Given the description of an element on the screen output the (x, y) to click on. 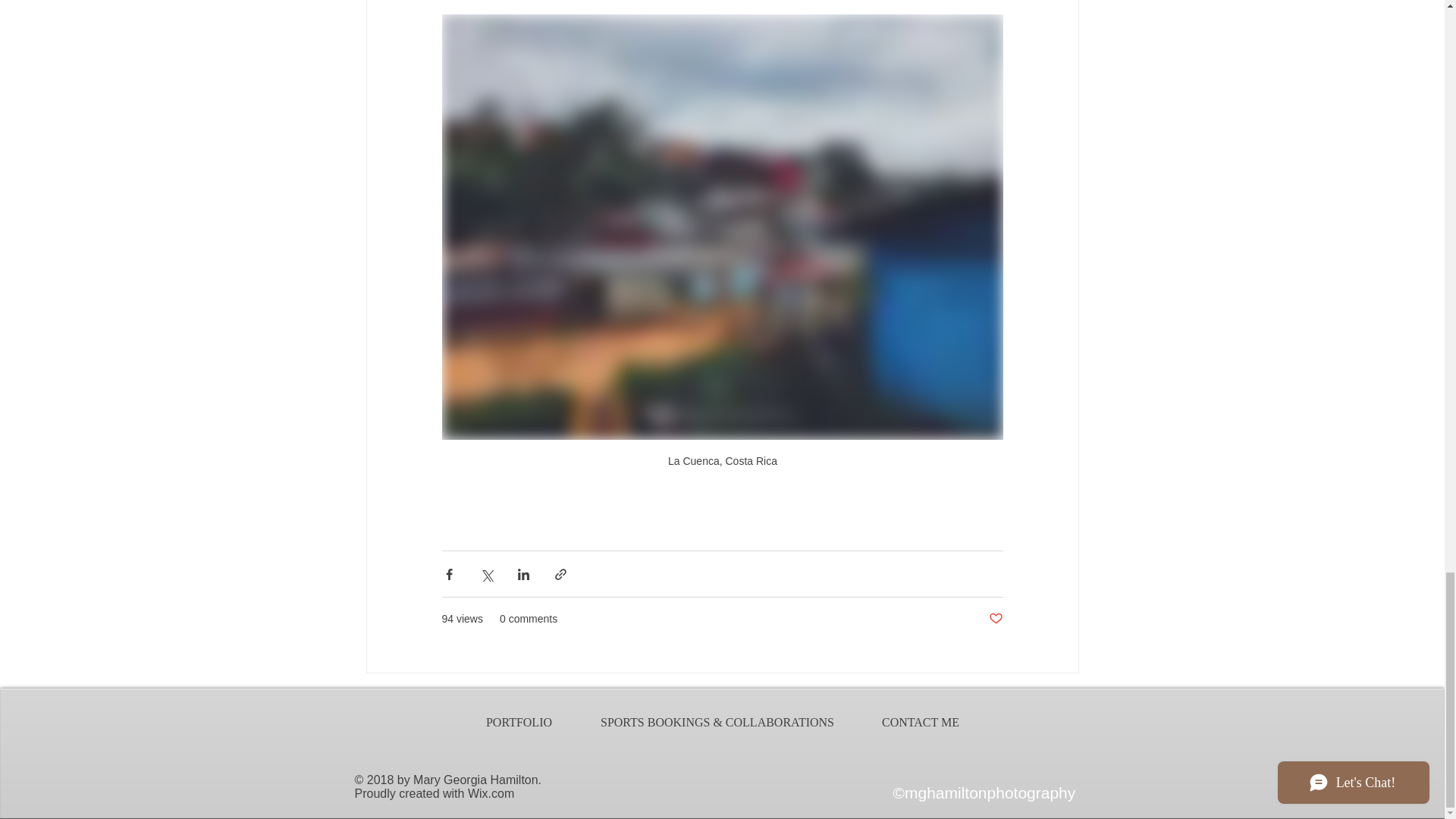
CONTACT ME (920, 722)
Wix.com (490, 793)
PORTFOLIO (519, 722)
Post not marked as liked (995, 618)
